Given the description of an element on the screen output the (x, y) to click on. 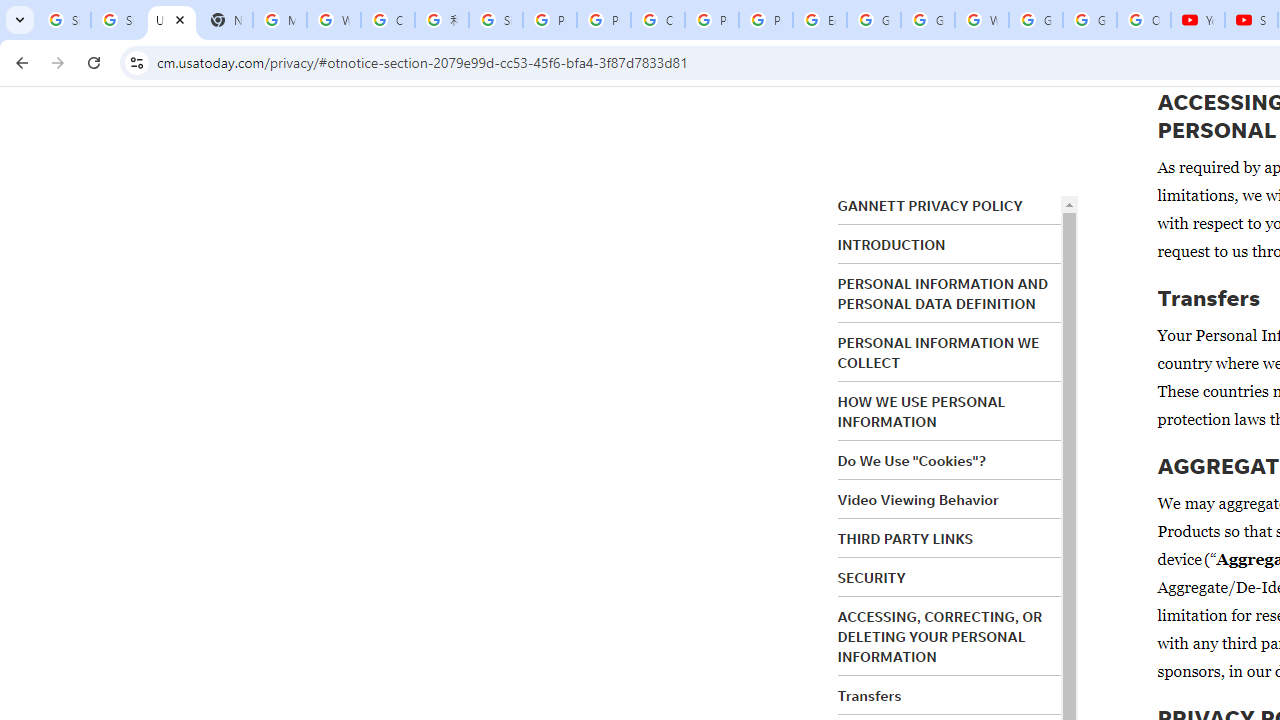
YouTube (1197, 20)
ACCESSING, CORRECTING, OR DELETING YOUR PERSONAL INFORMATION (940, 636)
Create your Google Account (657, 20)
GANNETT PRIVACY POLICY (929, 206)
INTRODUCTION (891, 245)
Edit and view right-to-left text - Google Docs Editors Help (819, 20)
PERSONAL INFORMATION WE COLLECT (938, 353)
SECURITY (871, 577)
Google Account (1089, 20)
